Given the description of an element on the screen output the (x, y) to click on. 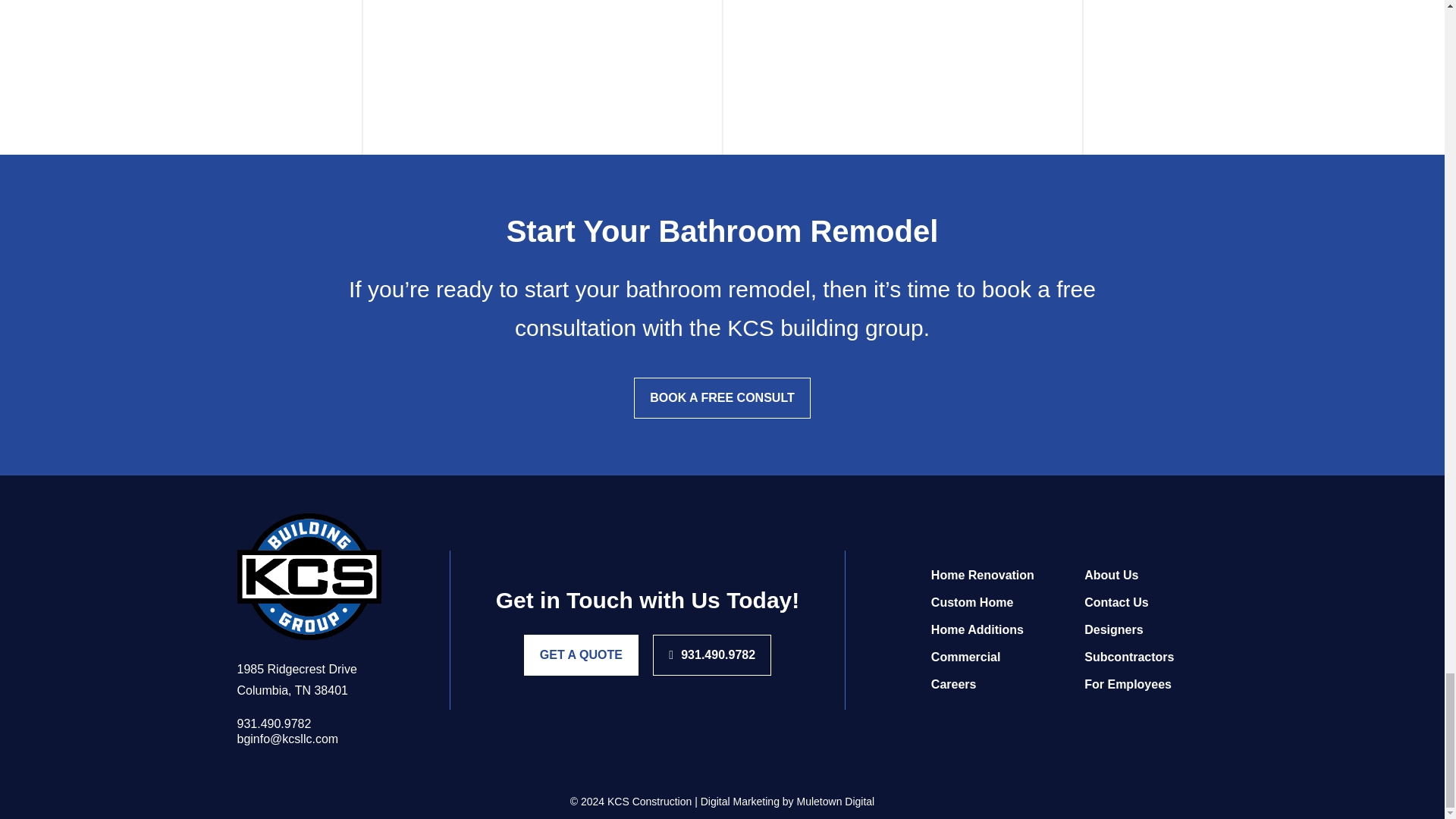
Home Renovation (982, 574)
Careers (953, 684)
931.490.9782 (307, 724)
GET A QUOTE (581, 654)
Commercial (966, 656)
Custom Home (972, 602)
Contact Us (1116, 602)
BOOK A FREE CONSULT (721, 397)
About Us (1111, 574)
Home Additions (977, 629)
931.490.9782 (711, 654)
